Given the description of an element on the screen output the (x, y) to click on. 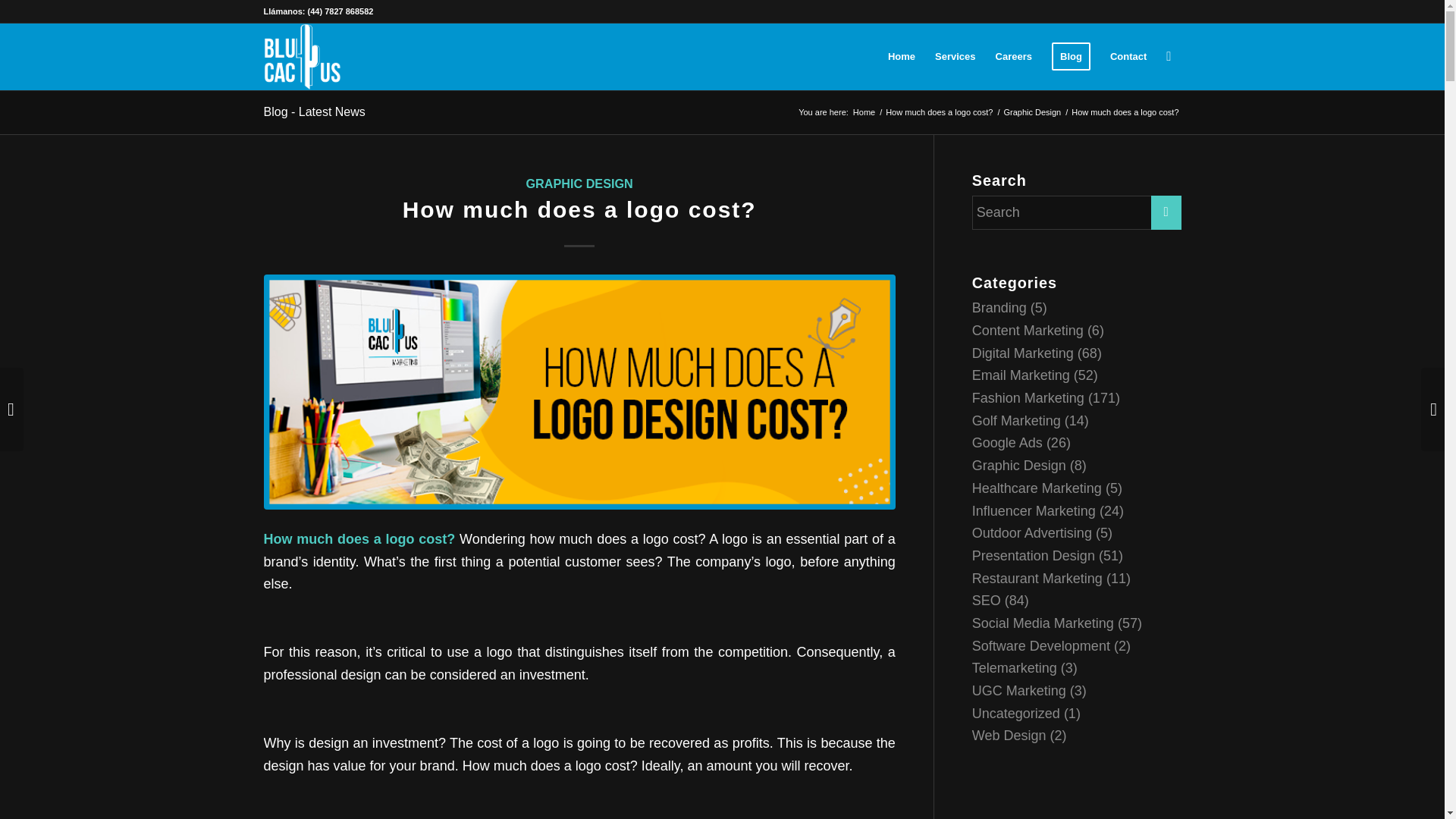
Permanent Link: Blog - Latest News (314, 111)
How much does a logo cost? (938, 112)
GRAPHIC DESIGN (579, 183)
Graphic Design (1031, 112)
Services (954, 56)
Home (863, 112)
BluCactus United Kingdom (863, 112)
How much does a logo cost? (938, 112)
Blog - Latest News (314, 111)
